Given the description of an element on the screen output the (x, y) to click on. 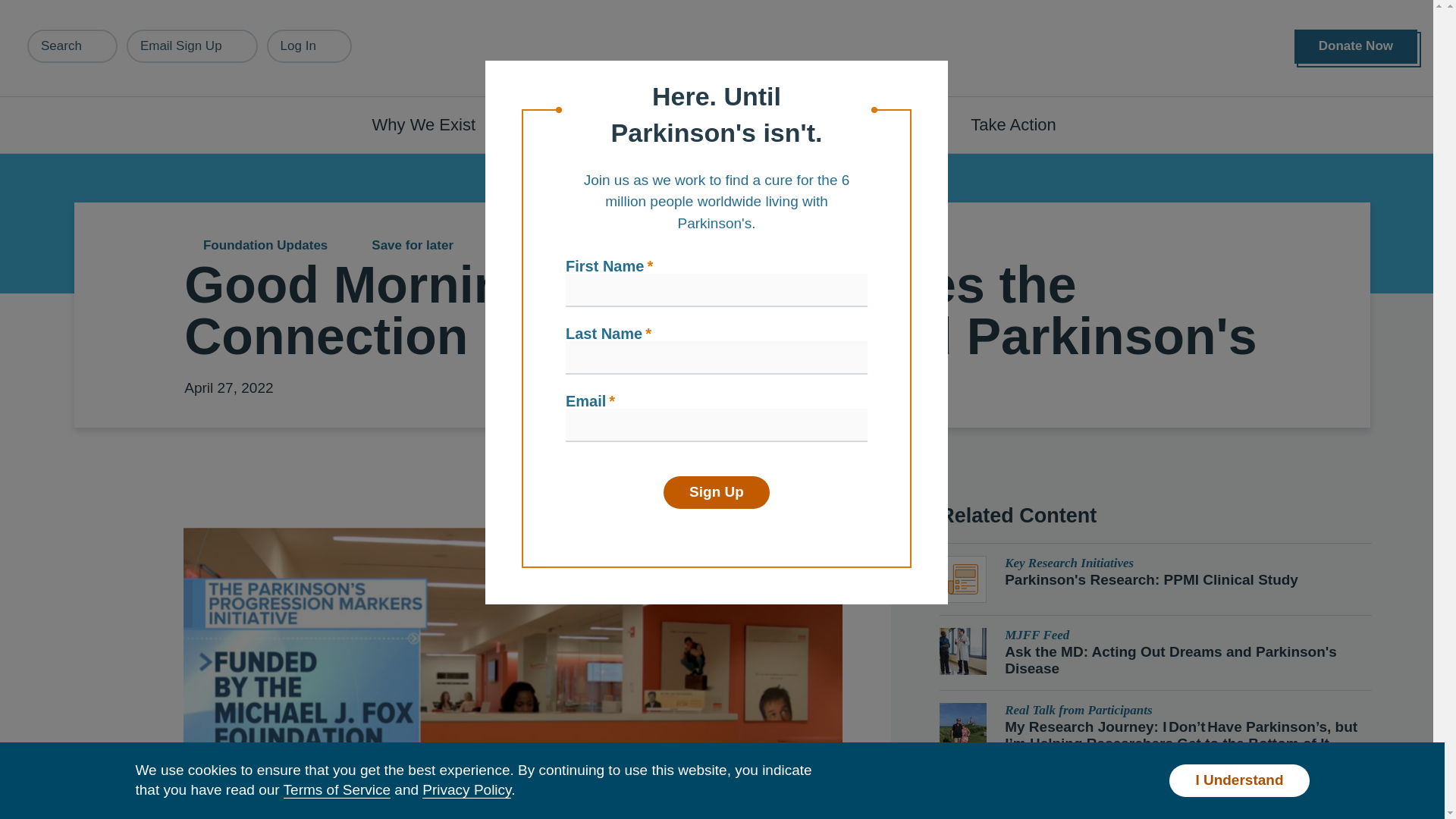
Search (72, 46)
Donate Now (1355, 46)
Understanding Parkinson's (640, 125)
Home Page (722, 48)
Log In (309, 46)
Email Sign Up (191, 46)
Why We Exist (432, 125)
Skip to main content (96, 7)
